Given the description of an element on the screen output the (x, y) to click on. 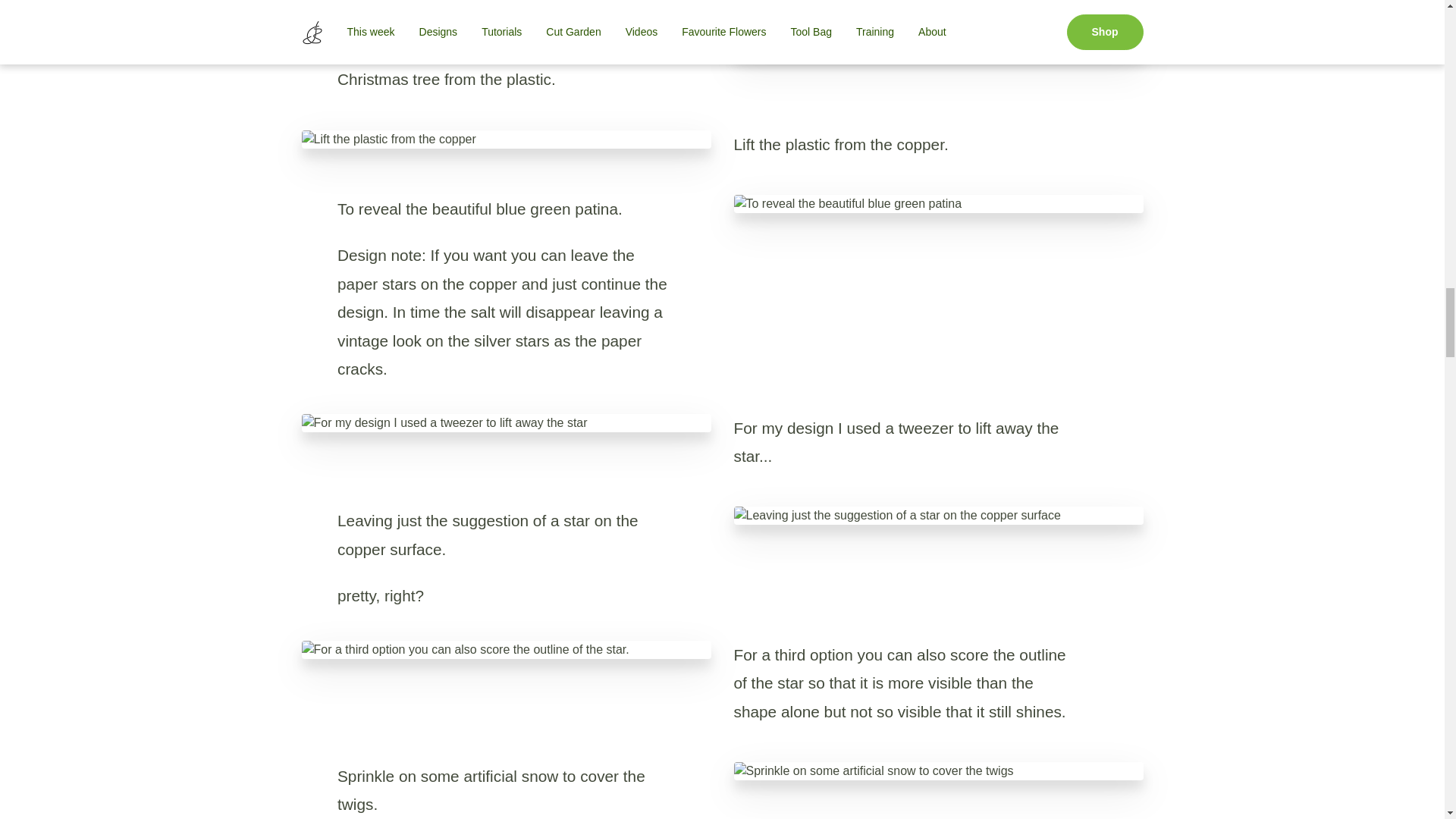
Lift the plastic from the copper (506, 139)
To reveal the beautiful blue green patina (937, 203)
For my design I used a tweezer to lift away the star (506, 423)
